Given the description of an element on the screen output the (x, y) to click on. 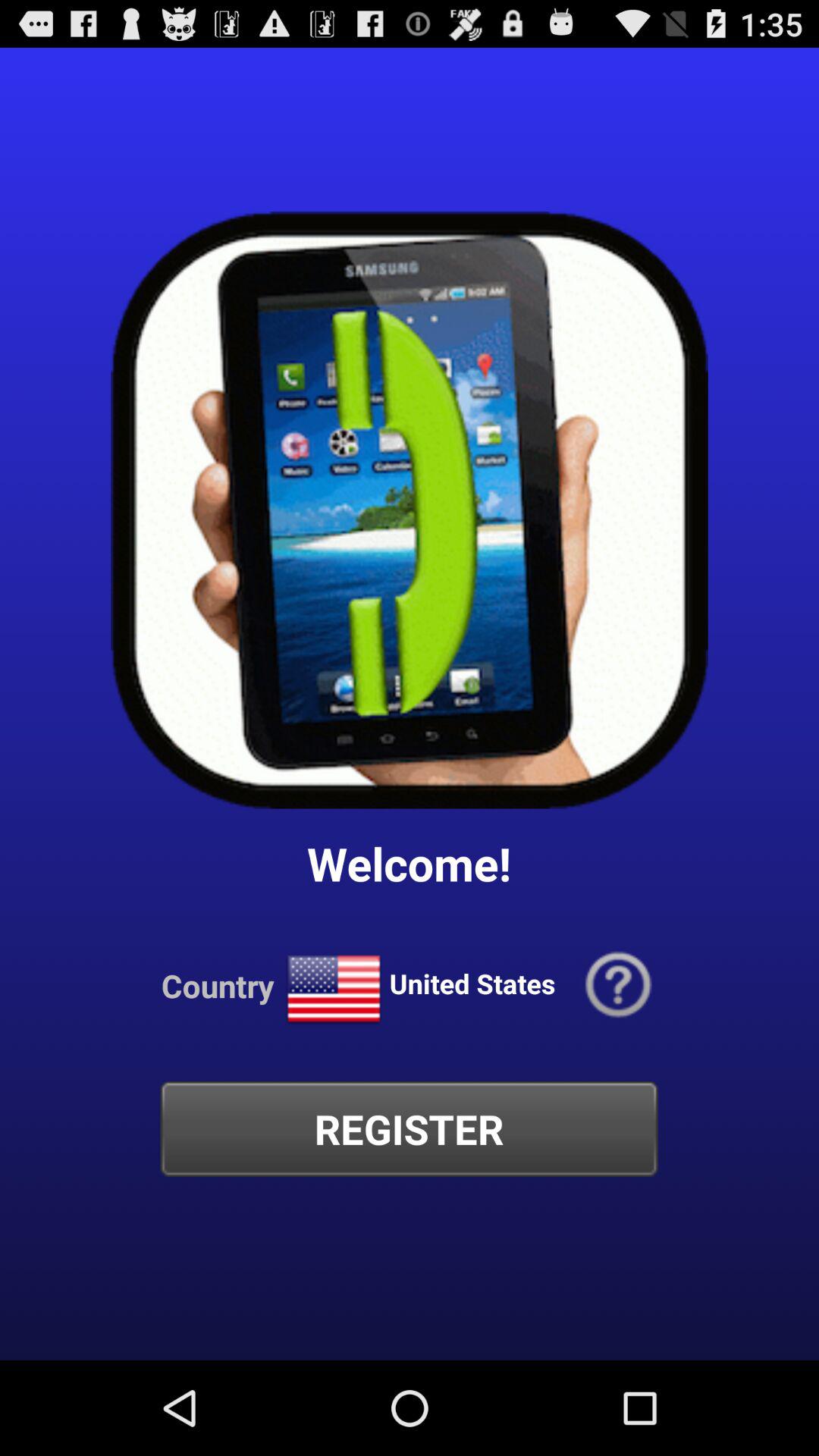
press item at the bottom right corner (618, 985)
